Given the description of an element on the screen output the (x, y) to click on. 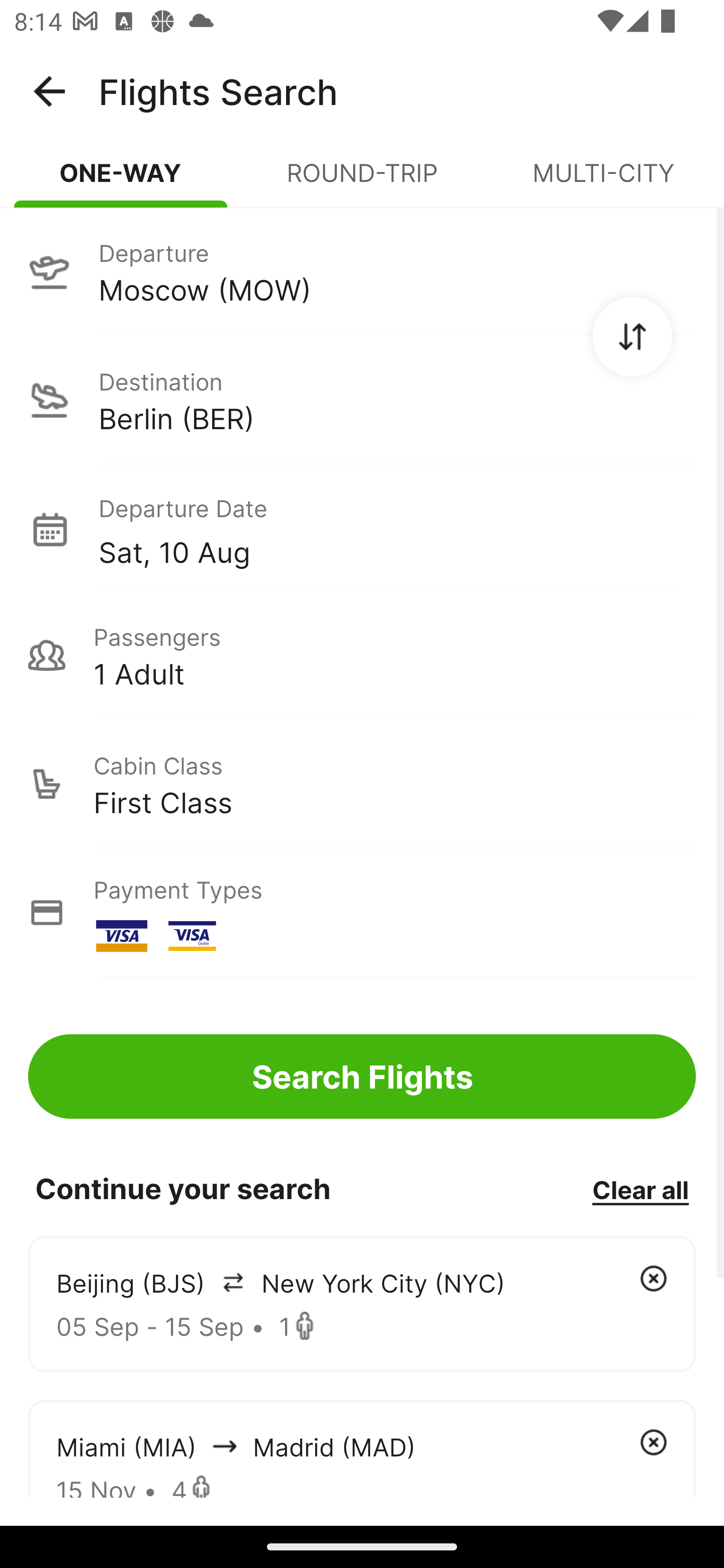
ONE-WAY (120, 180)
ROUND-TRIP (361, 180)
MULTI-CITY (603, 180)
Departure Moscow (MOW) (362, 270)
Destination Berlin (BER) (362, 400)
Departure Date Sat, 10 Aug (396, 528)
Passengers 1 Adult (362, 655)
Cabin Class First Class (362, 783)
Payment Types (362, 912)
Search Flights (361, 1075)
Clear all (640, 1189)
Miami (MIA)  arrowIcon  Madrid (MAD) 15 Nov •  4  (361, 1448)
